Given the description of an element on the screen output the (x, y) to click on. 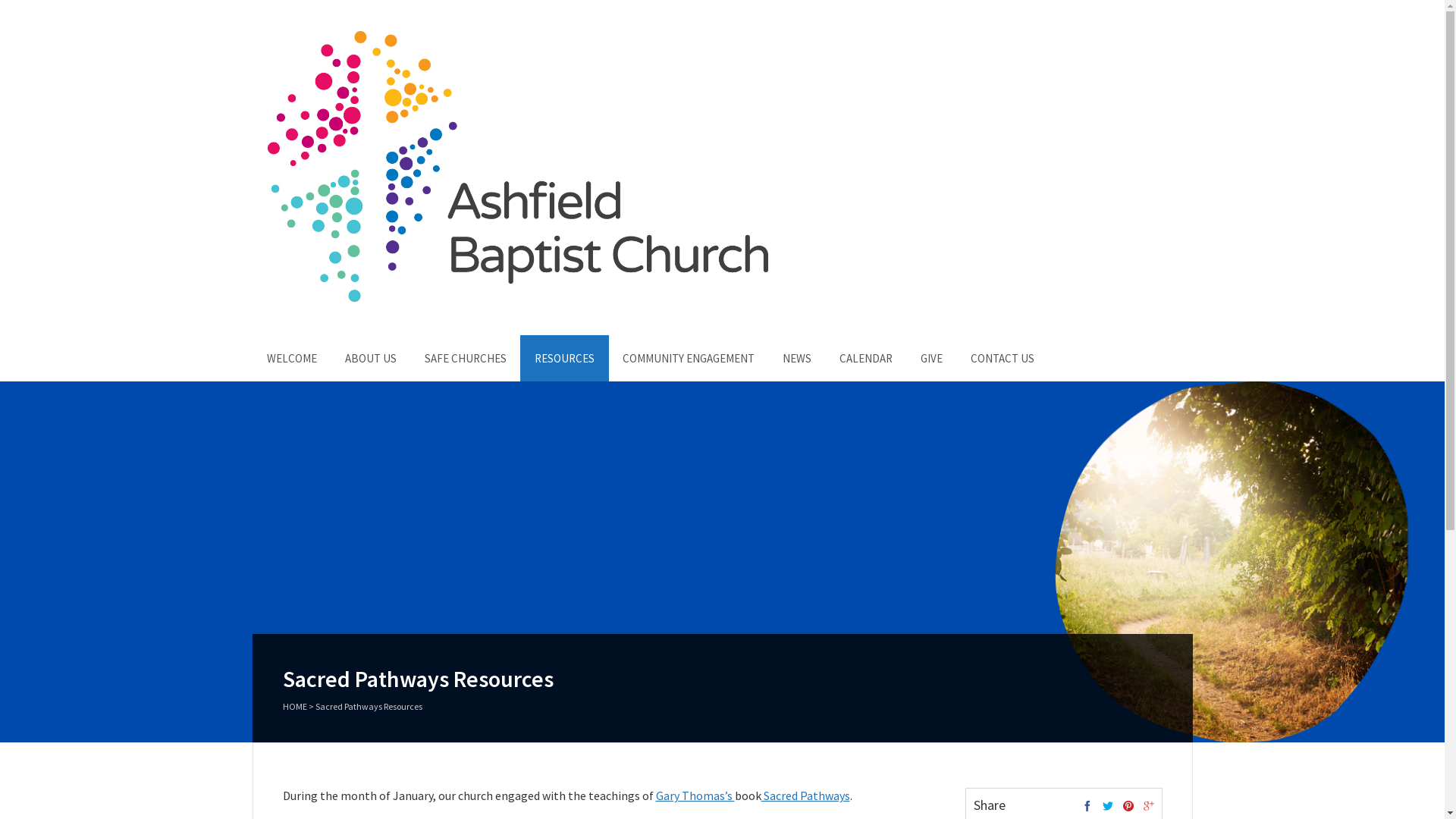
RESOURCES Element type: text (564, 358)
Pinterest Element type: hover (1127, 806)
Twitter Element type: hover (1107, 806)
Facebook Element type: hover (1086, 806)
CALENDAR Element type: text (865, 358)
HOME Element type: text (294, 706)
Sacred Pathways Element type: text (805, 795)
COMMUNITY ENGAGEMENT Element type: text (688, 358)
GIVE Element type: text (930, 358)
Google+ Element type: hover (1148, 806)
CONTACT US Element type: text (1001, 358)
 - A caring community sharing God's love! Element type: hover (516, 297)
ABOUT US Element type: text (370, 358)
NEWS Element type: text (796, 358)
WELCOME Element type: text (290, 358)
SAFE CHURCHES Element type: text (464, 358)
